Given the description of an element on the screen output the (x, y) to click on. 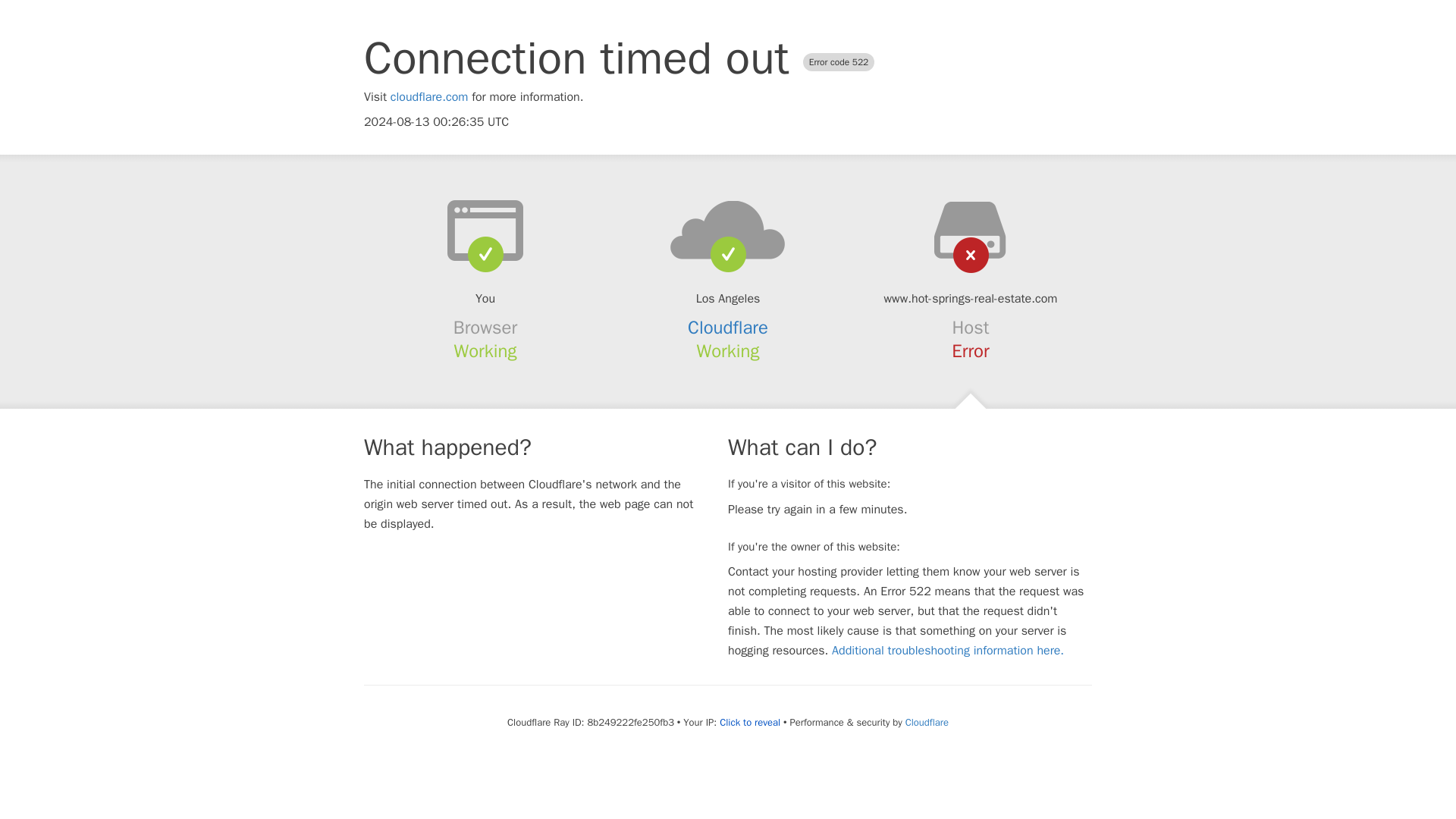
Additional troubleshooting information here. (947, 650)
Click to reveal (749, 722)
Cloudflare (727, 327)
cloudflare.com (429, 96)
Cloudflare (927, 721)
